Given the description of an element on the screen output the (x, y) to click on. 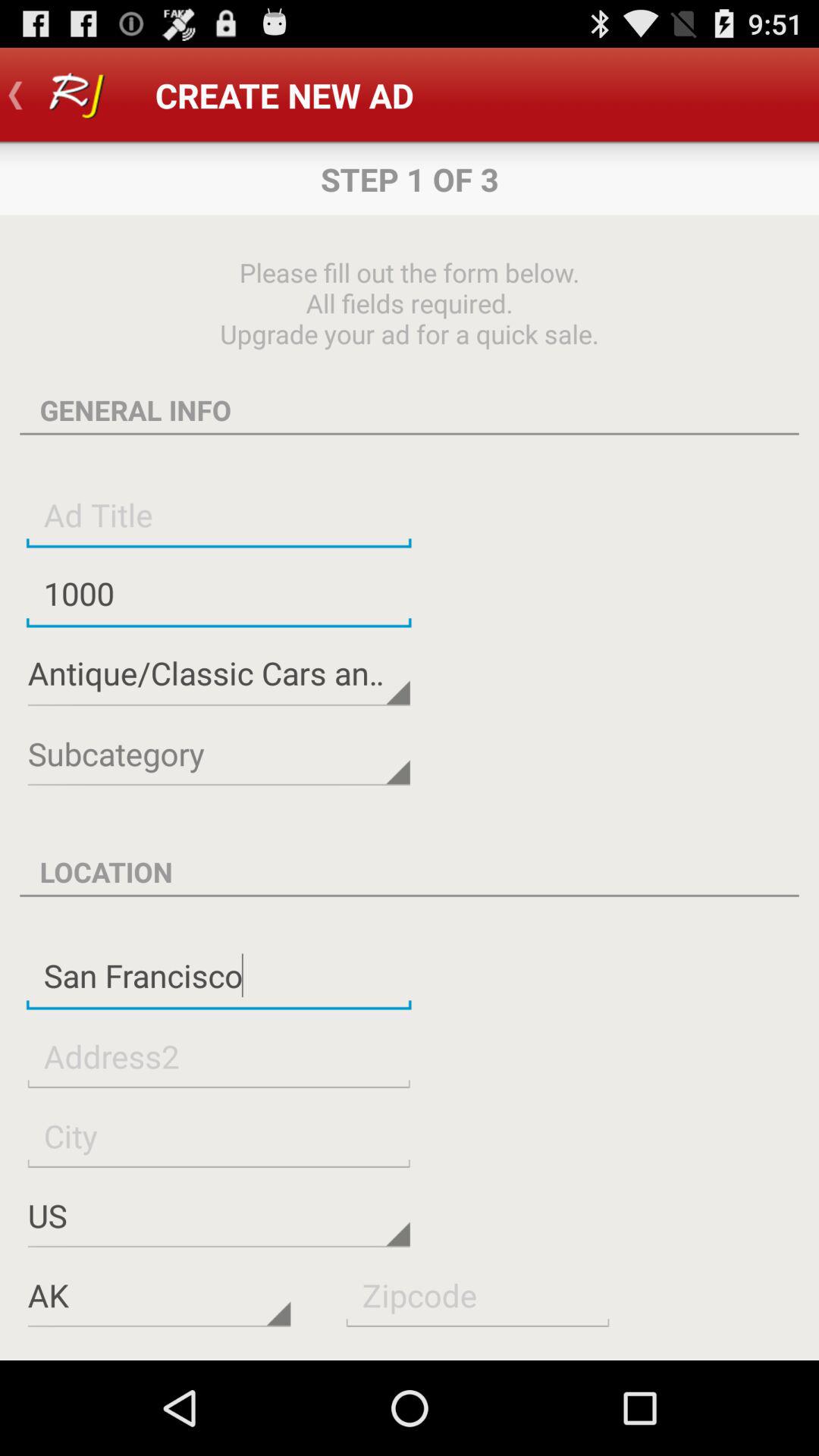
add zipcode (477, 1294)
